Given the description of an element on the screen output the (x, y) to click on. 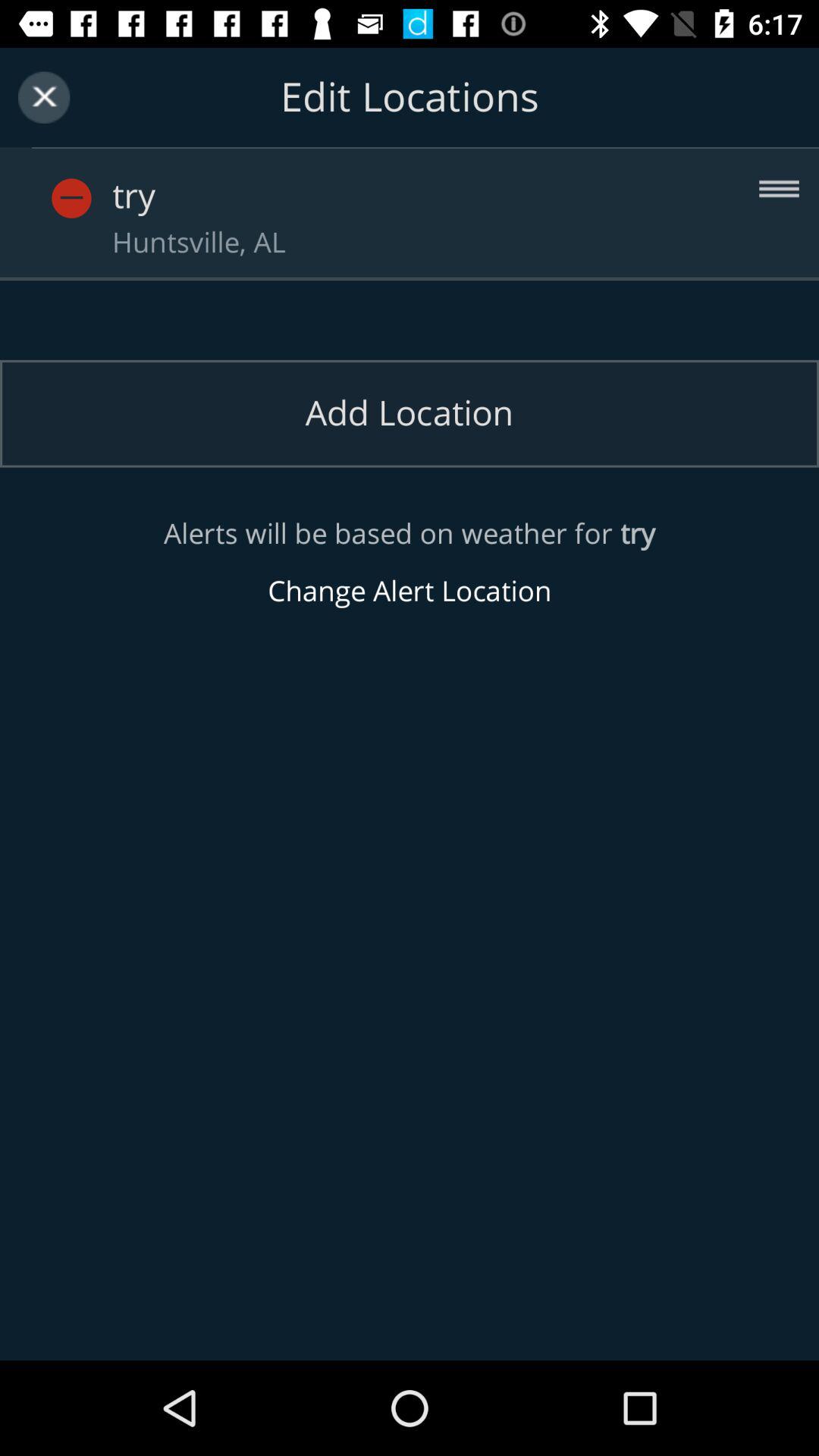
jump until alerts will be icon (409, 562)
